Given the description of an element on the screen output the (x, y) to click on. 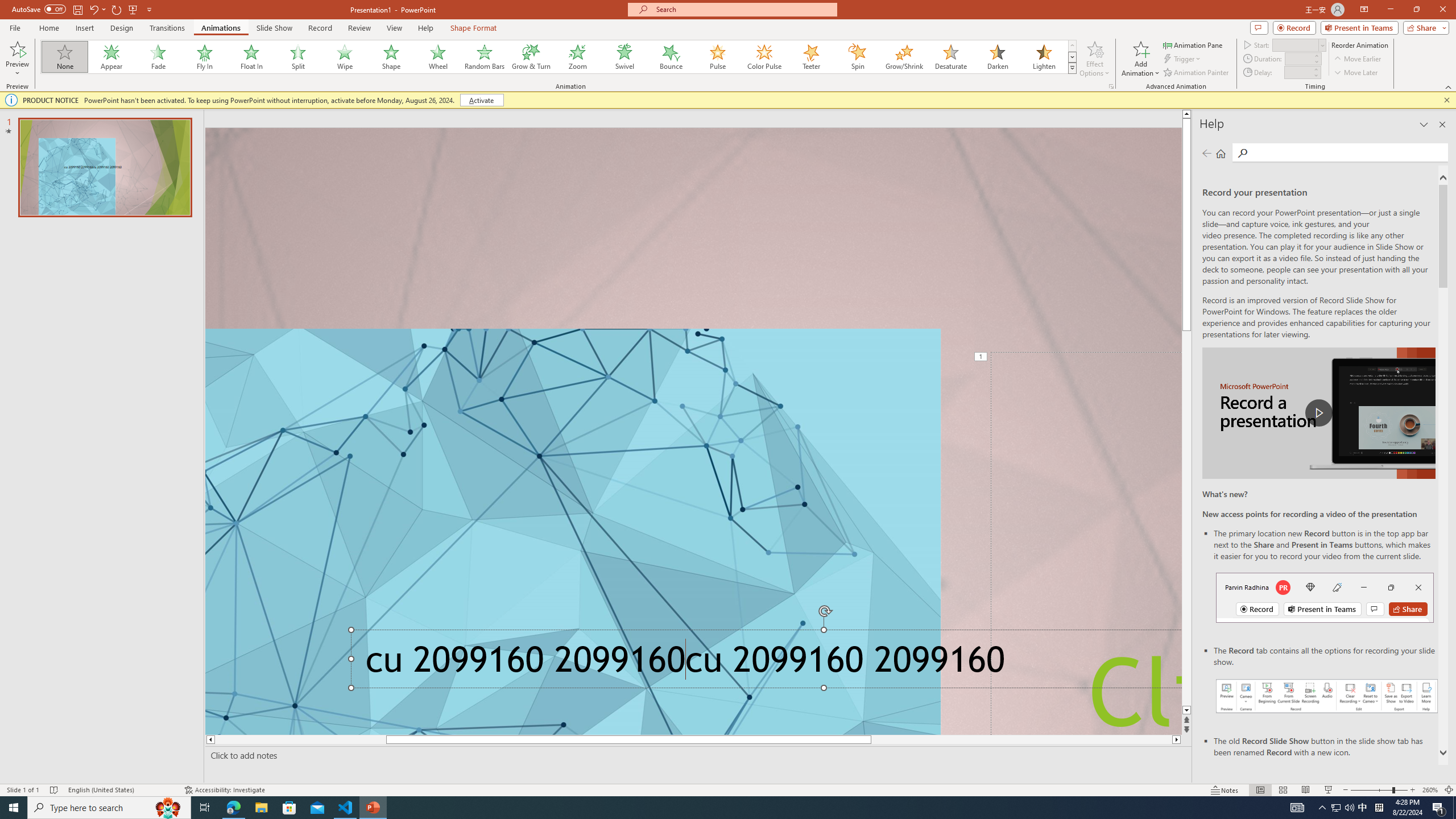
AutomationID: AnimationGallery (558, 56)
Trigger (1182, 58)
Bounce (670, 56)
Split (298, 56)
Float In (251, 56)
Animation, sequence 1, on Title 1 (981, 357)
Title TextBox (1086, 543)
More Options... (1110, 85)
Wipe (344, 56)
Color Pulse (764, 56)
